Given the description of an element on the screen output the (x, y) to click on. 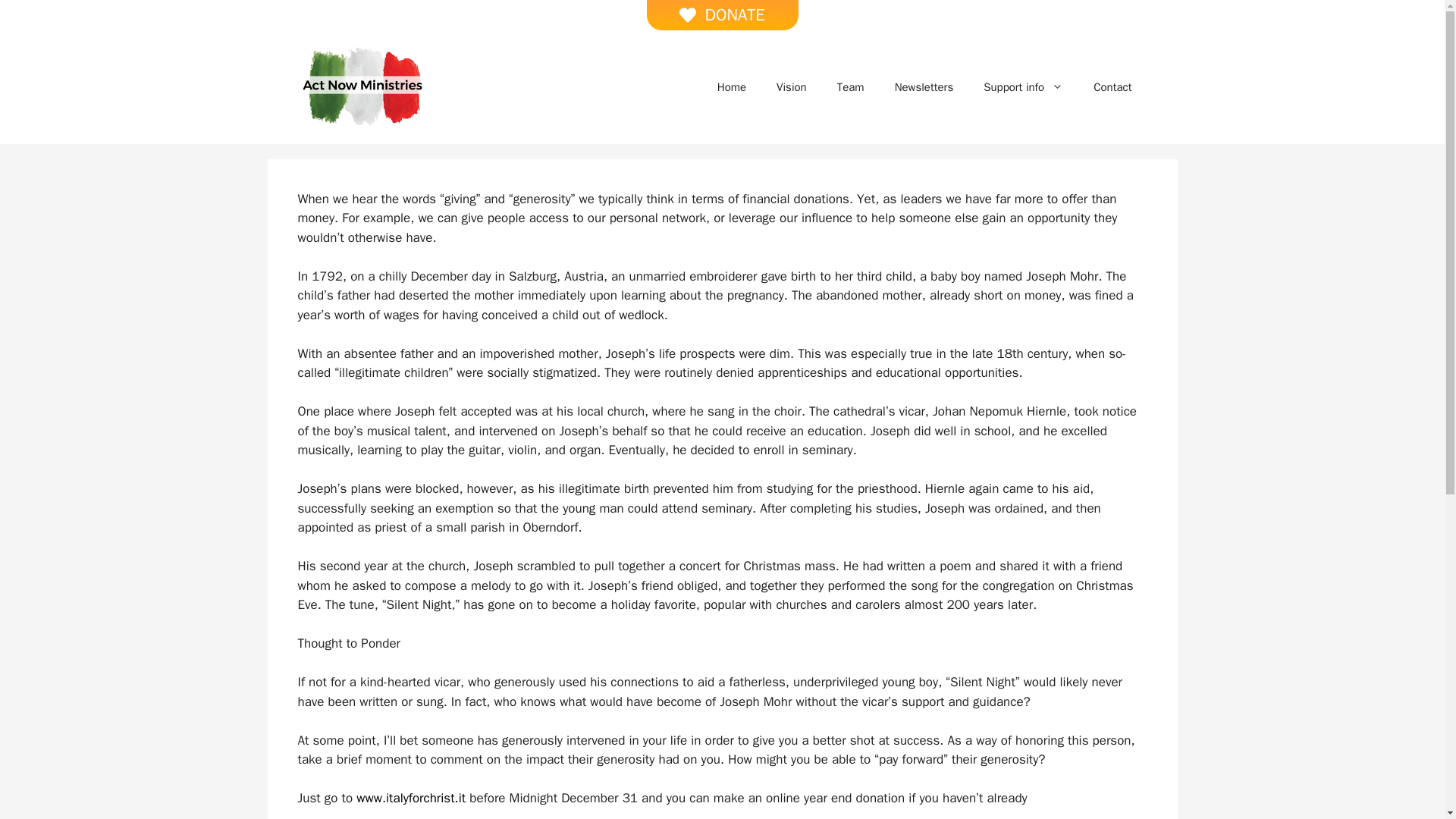
www.italyforchrist.it (410, 797)
Vision (791, 86)
Home (731, 86)
Team (850, 86)
Support info (1023, 86)
Contact (1112, 86)
Newsletters (924, 86)
